Given the description of an element on the screen output the (x, y) to click on. 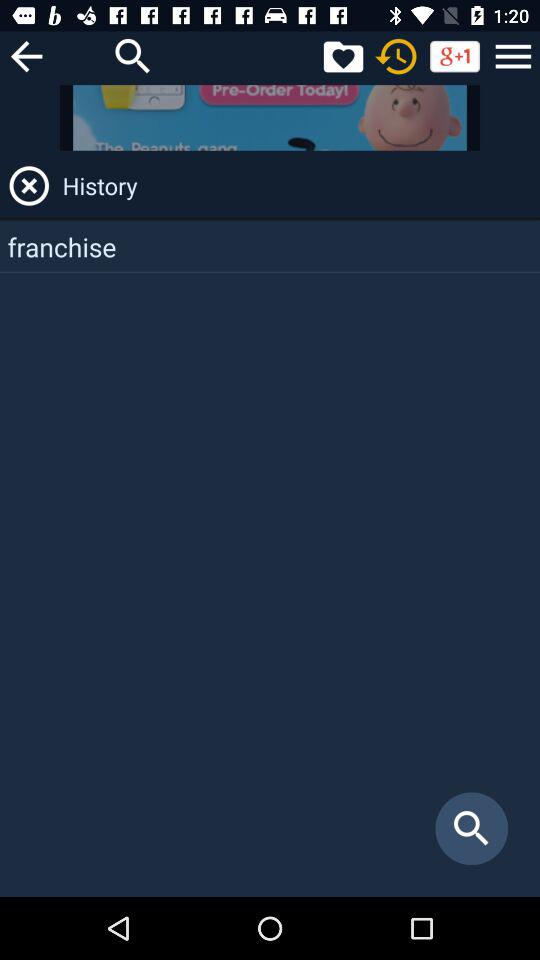
banner advertisement (270, 117)
